Given the description of an element on the screen output the (x, y) to click on. 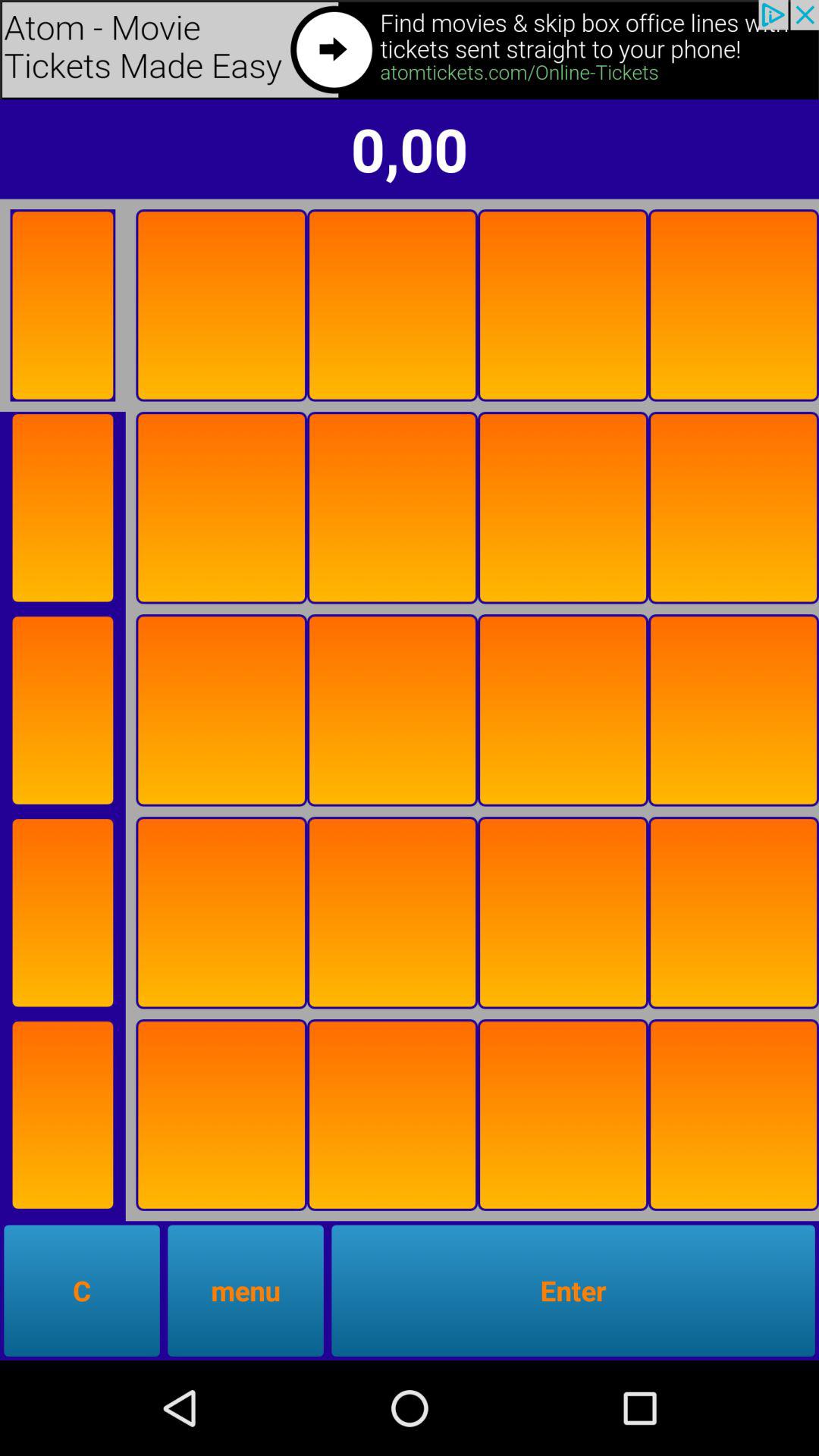
go to button (62, 305)
